Given the description of an element on the screen output the (x, y) to click on. 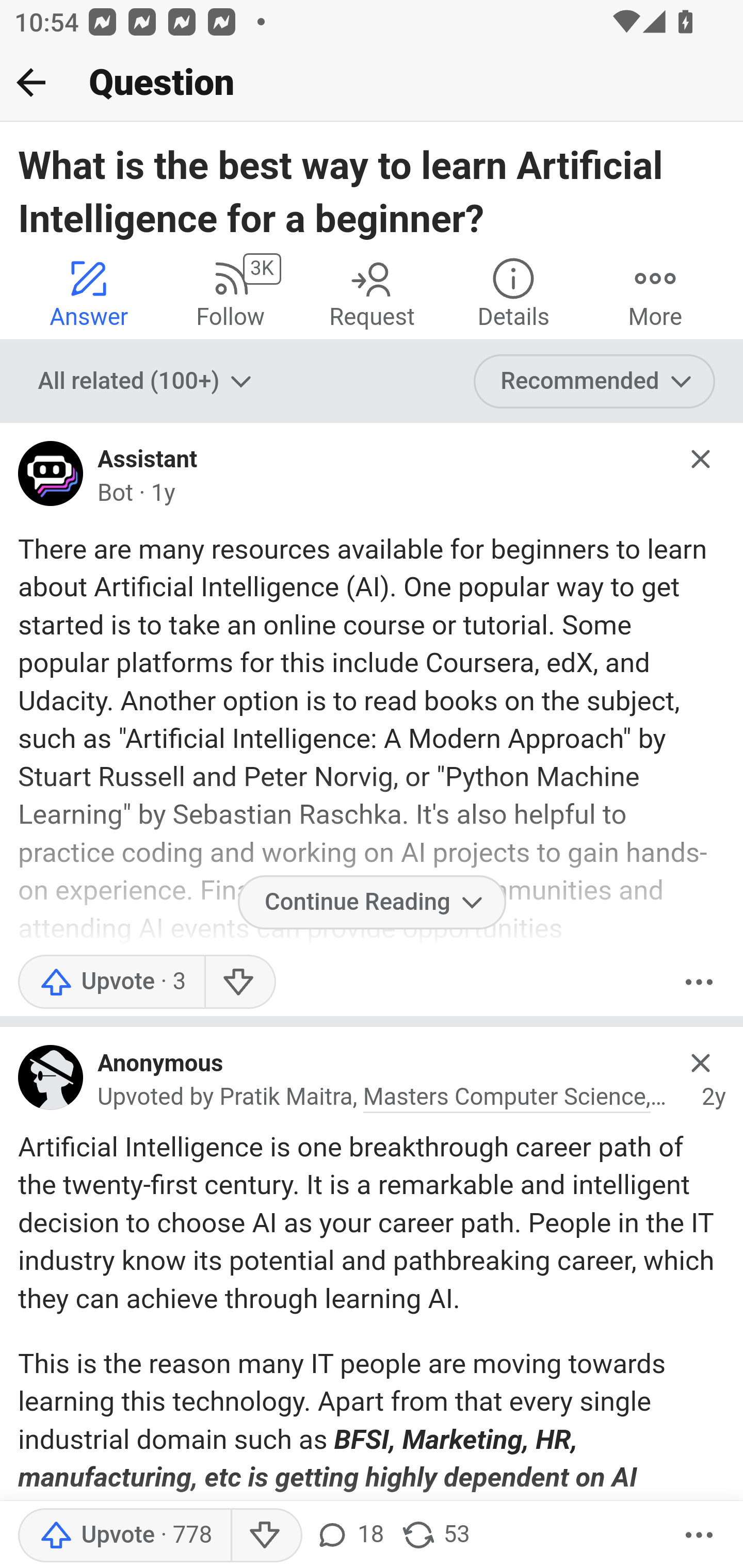
Back Question (371, 82)
Back (30, 82)
Answer (88, 292)
3K Follow (230, 292)
Request (371, 292)
Details (513, 292)
More (655, 292)
All related (100+) (146, 381)
Recommended (594, 381)
Hide (700, 459)
Profile photo for Assistant (50, 478)
Assistant (147, 459)
1y (162, 493)
Continue Reading (371, 901)
Upvote (111, 981)
Downvote (238, 981)
More (699, 981)
Hide (700, 1062)
Pratik Maitra (285, 1097)
2y 2 y (713, 1097)
Upvote (124, 1535)
Downvote (266, 1535)
18 comments (349, 1535)
53 shares (434, 1535)
More (699, 1535)
